Given the description of an element on the screen output the (x, y) to click on. 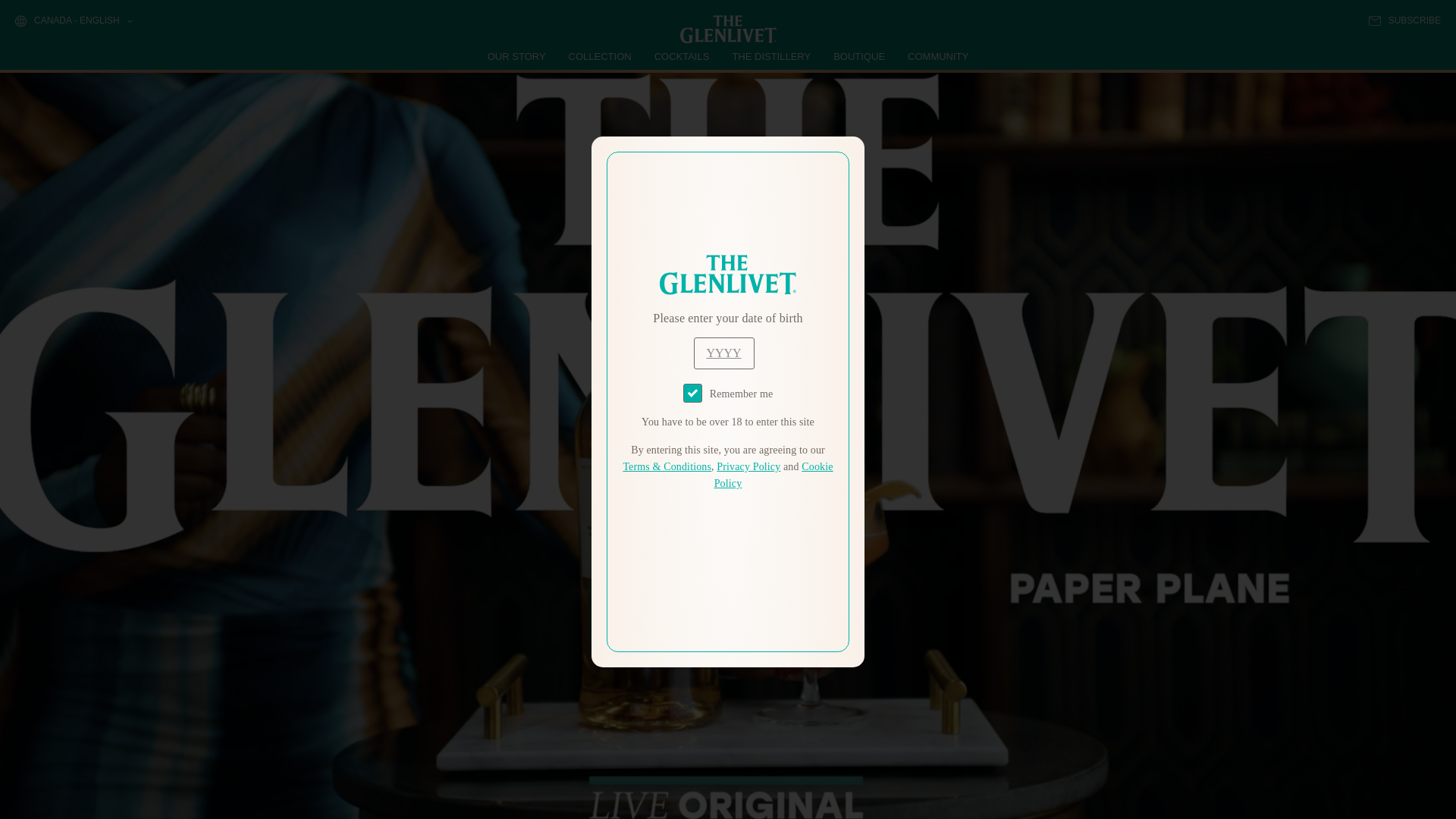
COCKTAILS (681, 56)
CANADA - ENGLISH (73, 21)
Privacy Policy (748, 466)
OUR STORY (516, 56)
BOUTIQUE (858, 56)
COLLECTION (600, 56)
THE DISTILLERY (771, 56)
Cookie Policy (773, 474)
SUBSCRIBE (1404, 20)
COMMUNITY (937, 56)
year (723, 353)
